Given the description of an element on the screen output the (x, y) to click on. 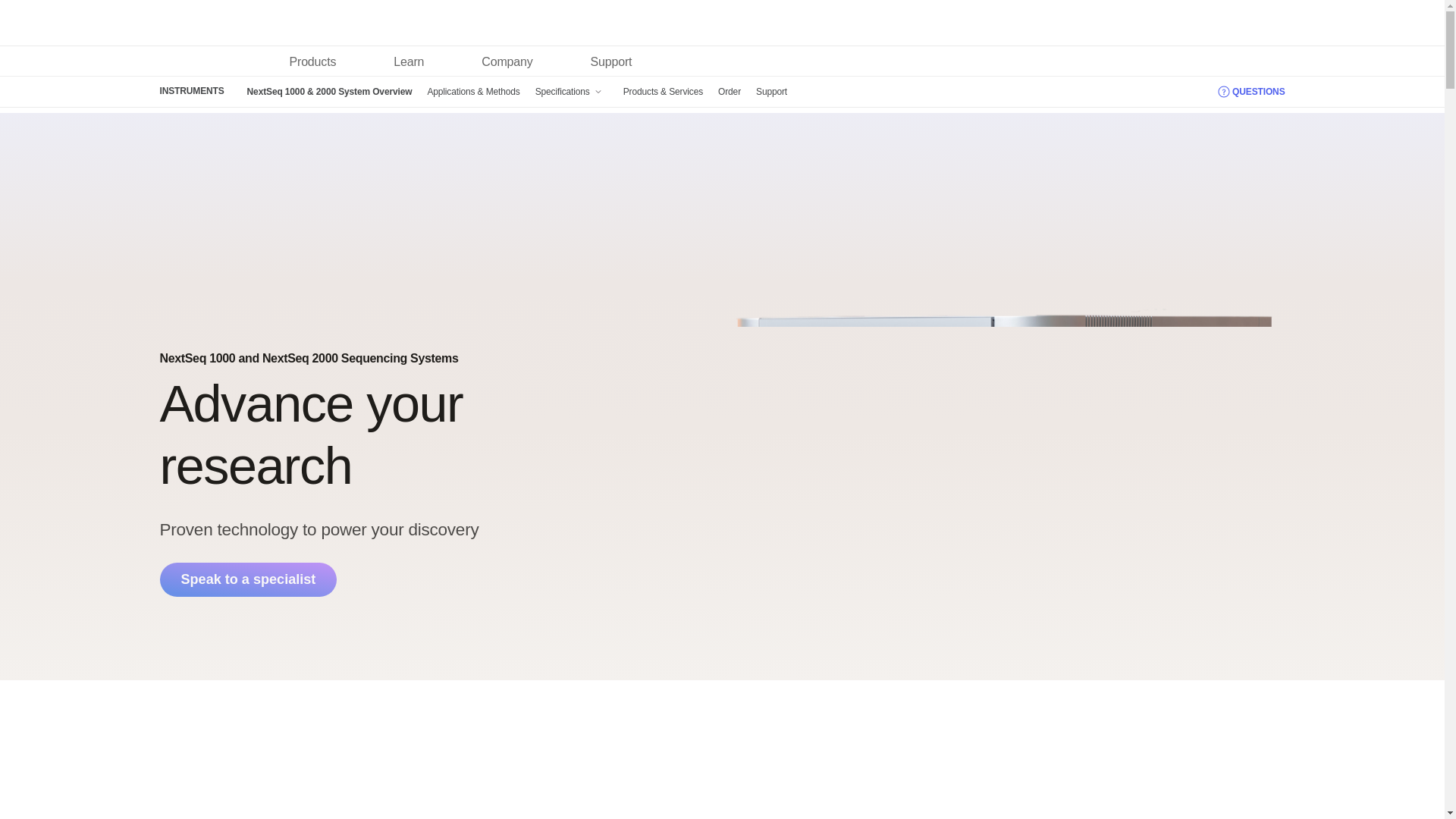
Support (611, 61)
Products (311, 61)
Company (506, 61)
Learn (408, 61)
